Given the description of an element on the screen output the (x, y) to click on. 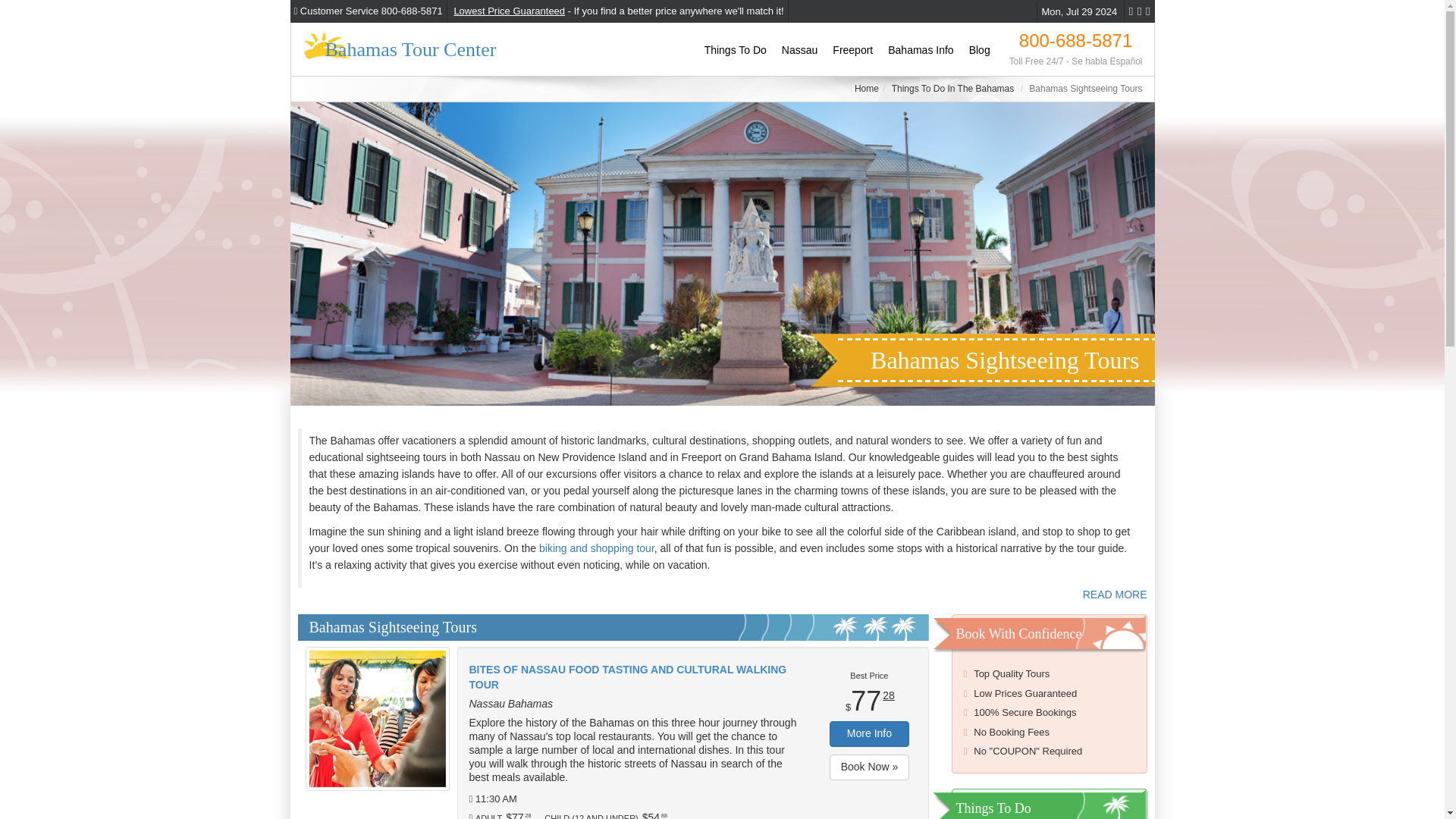
Home (866, 88)
Bahamas Tour Center (398, 42)
Lowest Price Guaranteed (508, 10)
Things To Do (735, 49)
Things To Do In The Bahamas (952, 88)
Home (866, 88)
Bahamas (920, 49)
biking and shopping tour (595, 548)
Bahamas Info (920, 49)
Freeport (852, 49)
BITES OF NASSAU FOOD TASTING AND CULTURAL WALKING TOUR (632, 677)
Things To Do (735, 49)
Blue Lagoon Island Beach Day (815, 589)
Things To Do In The  Bahamas (952, 88)
More Info (868, 733)
